Given the description of an element on the screen output the (x, y) to click on. 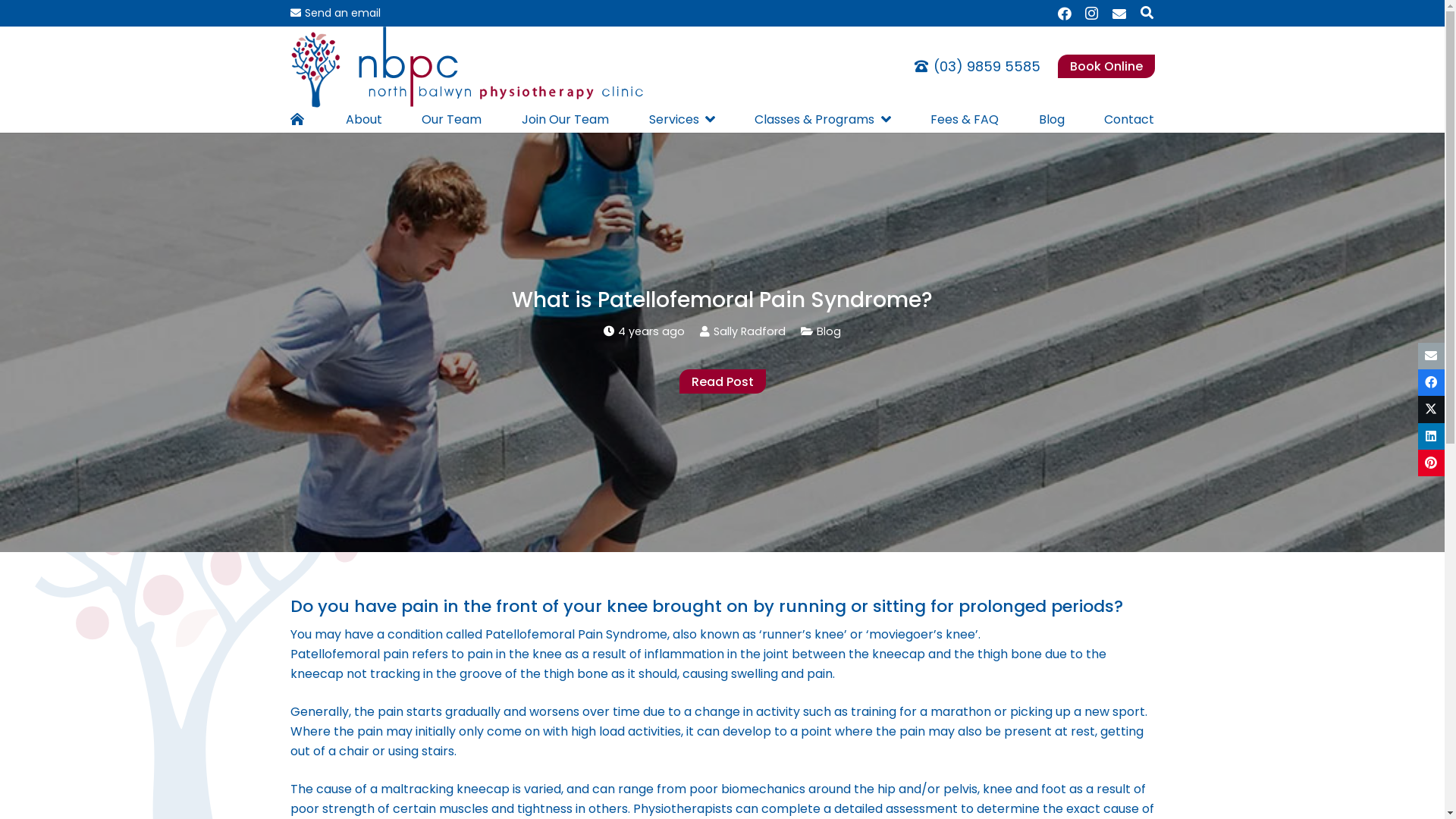
powered by Google Element type: hover (1207, 665)
LinkedIn Element type: hover (414, 692)
Pin this Element type: hover (1431, 462)
Book Online Element type: text (1105, 66)
Send an email Element type: text (334, 12)
Sally Radford Element type: text (749, 331)
Share this Element type: hover (1431, 436)
review us on Element type: text (1205, 696)
Newcastle Creative Co. Element type: text (910, 773)
Email Element type: hover (443, 692)
Email this Element type: hover (1431, 355)
Our Team Element type: text (451, 119)
(03) 9859 5585 Element type: text (977, 65)
North Balwyn Physiotherapy Clinic Element type: hover (1203, 567)
Join Our Team Element type: text (565, 119)
Tweet this Element type: hover (1431, 408)
Cookie Policy Element type: text (758, 799)
About Element type: text (363, 119)
Email Element type: hover (1118, 13)
Blog Element type: text (1051, 119)
Instagram Element type: hover (1091, 13)
Instagram Element type: hover (385, 693)
Privacy Policy Element type: text (685, 799)
Contact Element type: text (1129, 119)
Services Element type: text (682, 119)
Share this Element type: hover (1431, 382)
Fees & FAQ Element type: text (964, 119)
North Balwyn Physiotherapy Clinic Element type: text (1205, 601)
Classes & Programs Element type: text (822, 119)
Facebook Element type: hover (355, 692)
Meet Our Team Element type: text (273, 693)
Blog Element type: text (828, 330)
(03) 9859 5585 Element type: text (722, 628)
Read Post Element type: text (722, 381)
Facebook Element type: hover (1064, 13)
